Given the description of an element on the screen output the (x, y) to click on. 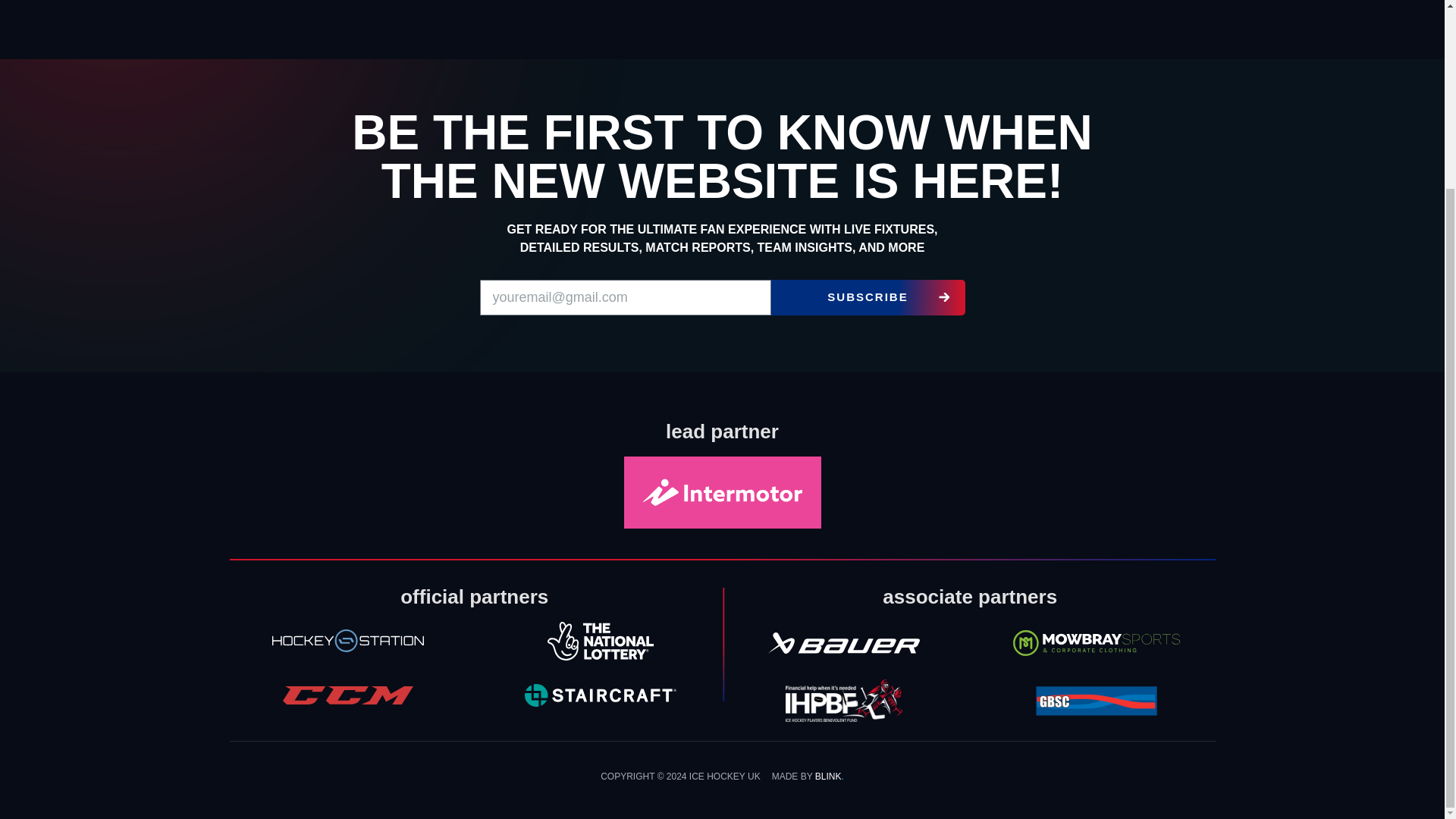
SUBSCRIBE (866, 297)
BLINK (828, 776)
